Given the description of an element on the screen output the (x, y) to click on. 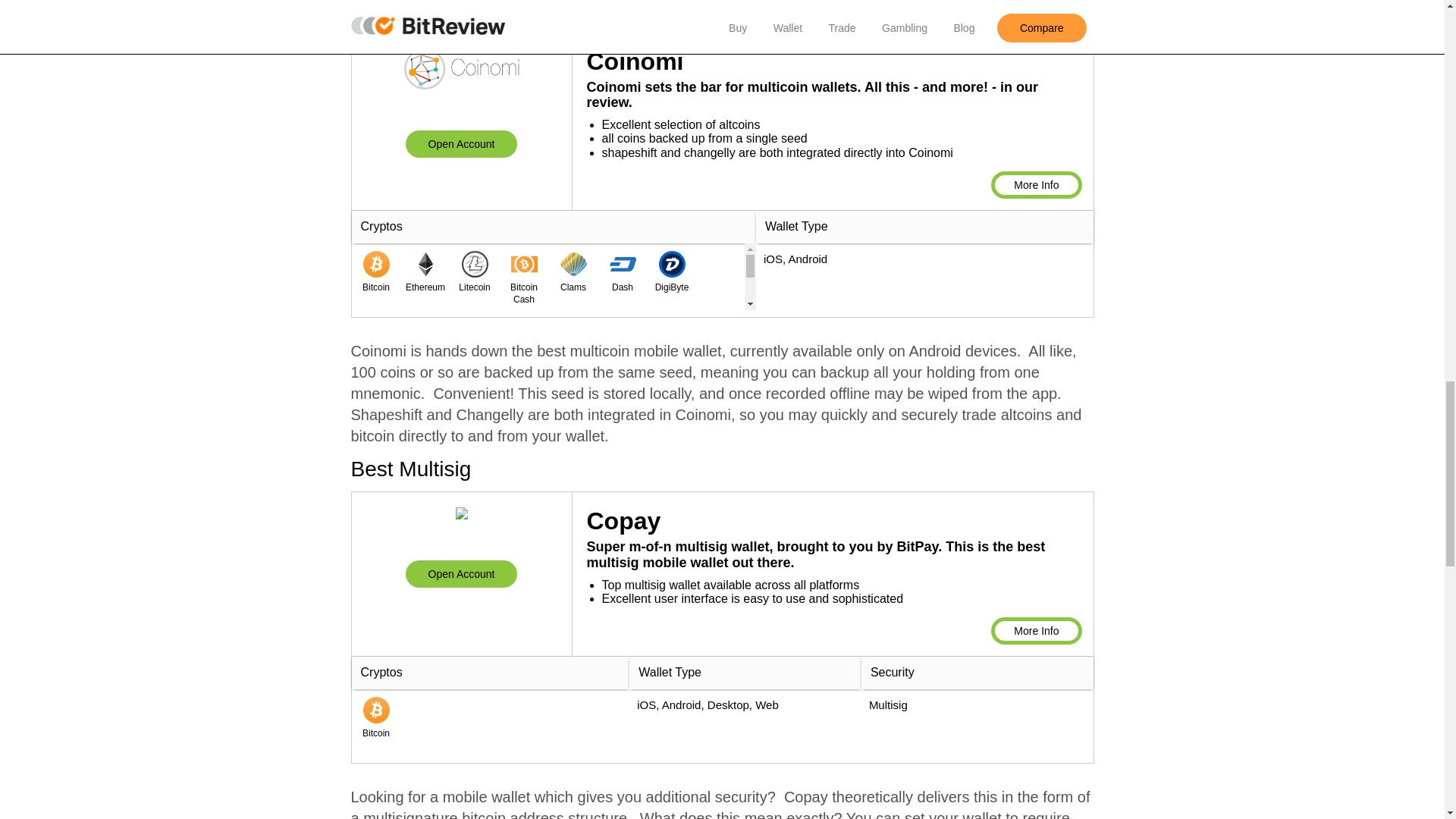
coinomi (461, 143)
